Given the description of an element on the screen output the (x, y) to click on. 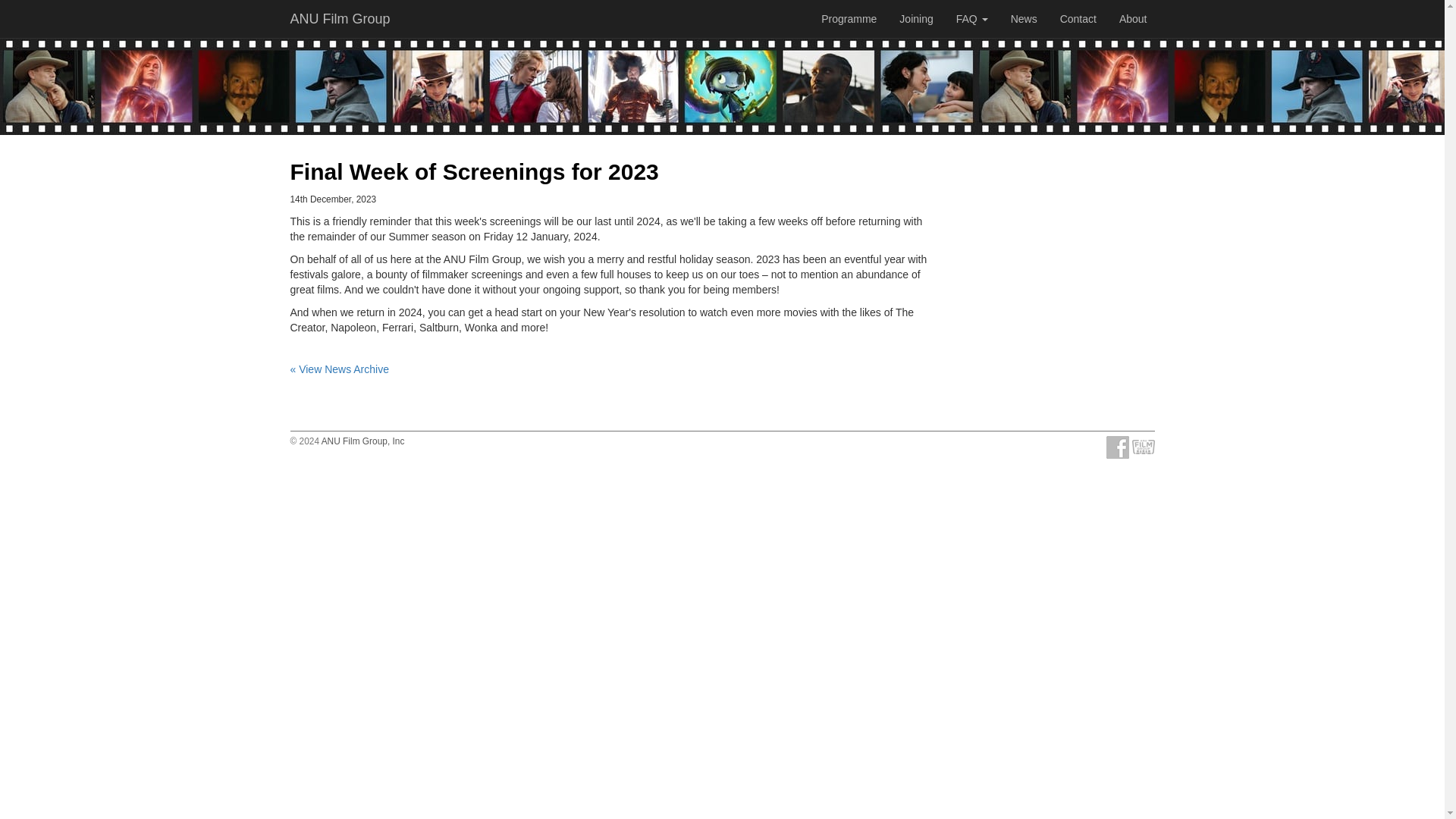
News (1023, 18)
Programme (848, 18)
FAQ (971, 18)
ANU Film Group, Inc (362, 440)
About (1133, 18)
Joining (915, 18)
Final Week of Screenings for 2023 (473, 171)
ANU Film Group (340, 18)
Contact (1078, 18)
